Given the description of an element on the screen output the (x, y) to click on. 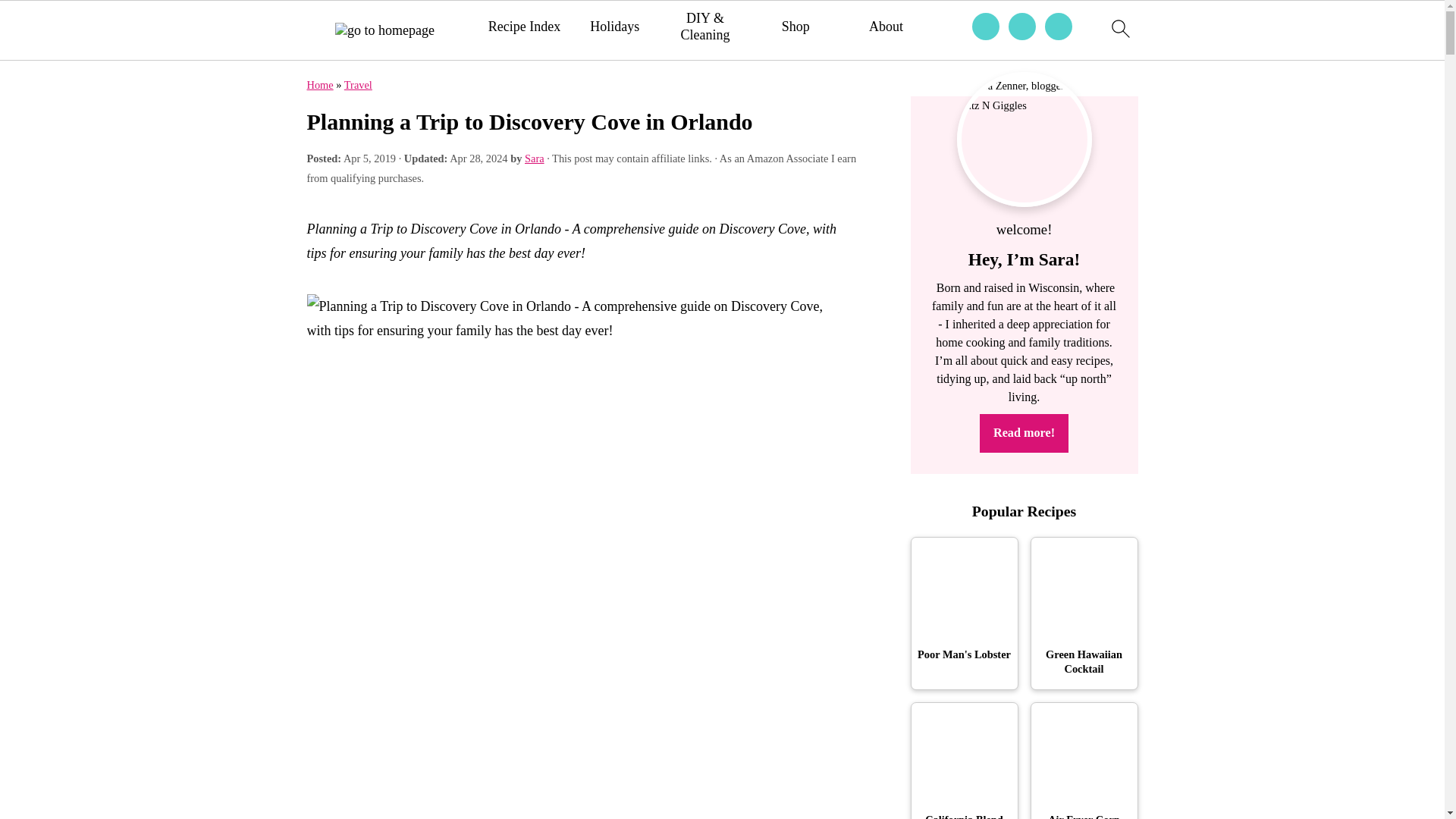
search icon (1119, 30)
Travel (357, 84)
Shop (795, 27)
Holidays (614, 27)
Sara (534, 158)
About (885, 27)
Recipe Index (523, 27)
Home (319, 84)
search icon (1119, 28)
